Given the description of an element on the screen output the (x, y) to click on. 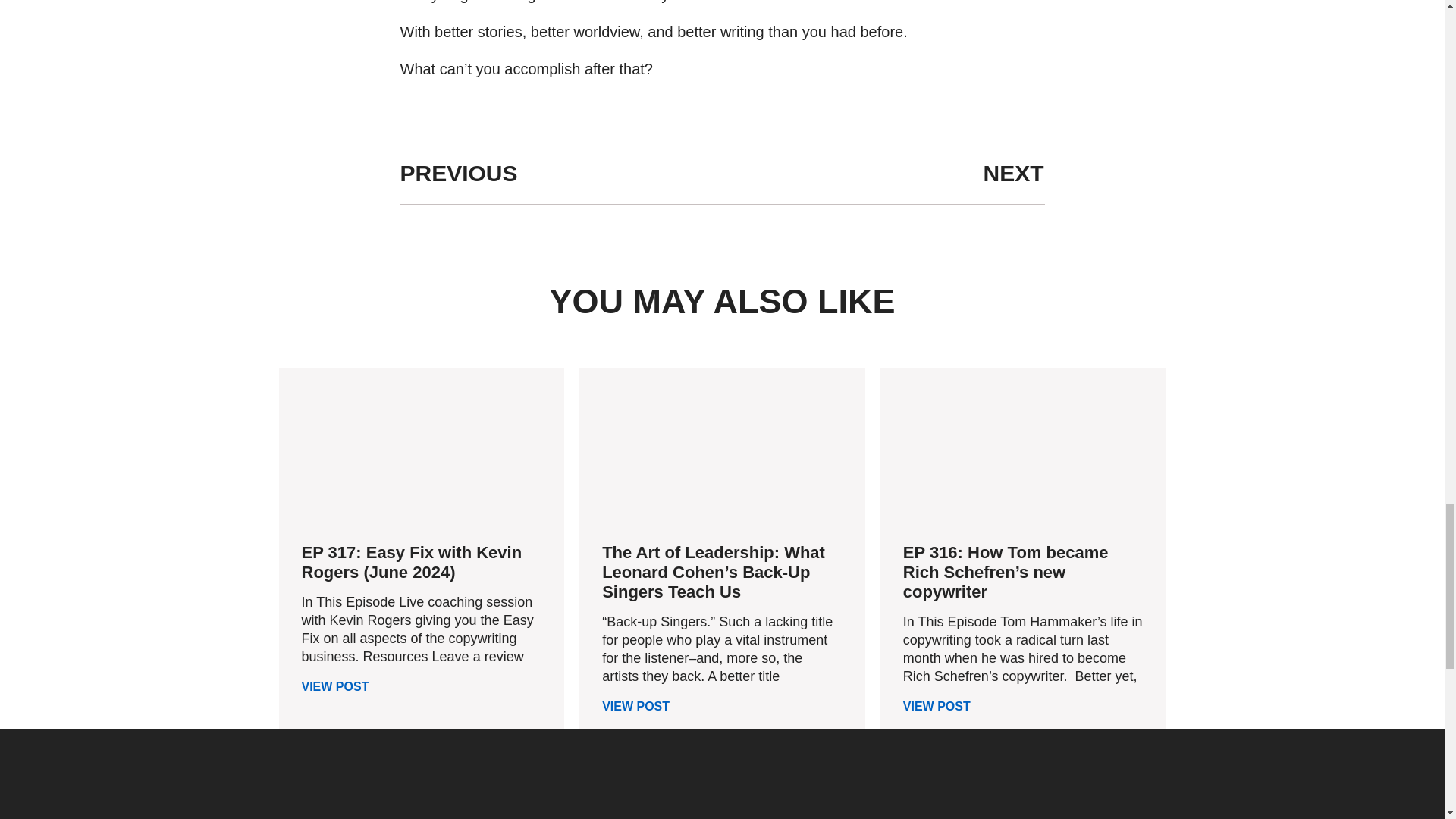
VIEW POST (635, 706)
VIEW POST (335, 686)
VIEW POST (936, 706)
PREVIOUS (561, 173)
NEXT (882, 173)
